Given the description of an element on the screen output the (x, y) to click on. 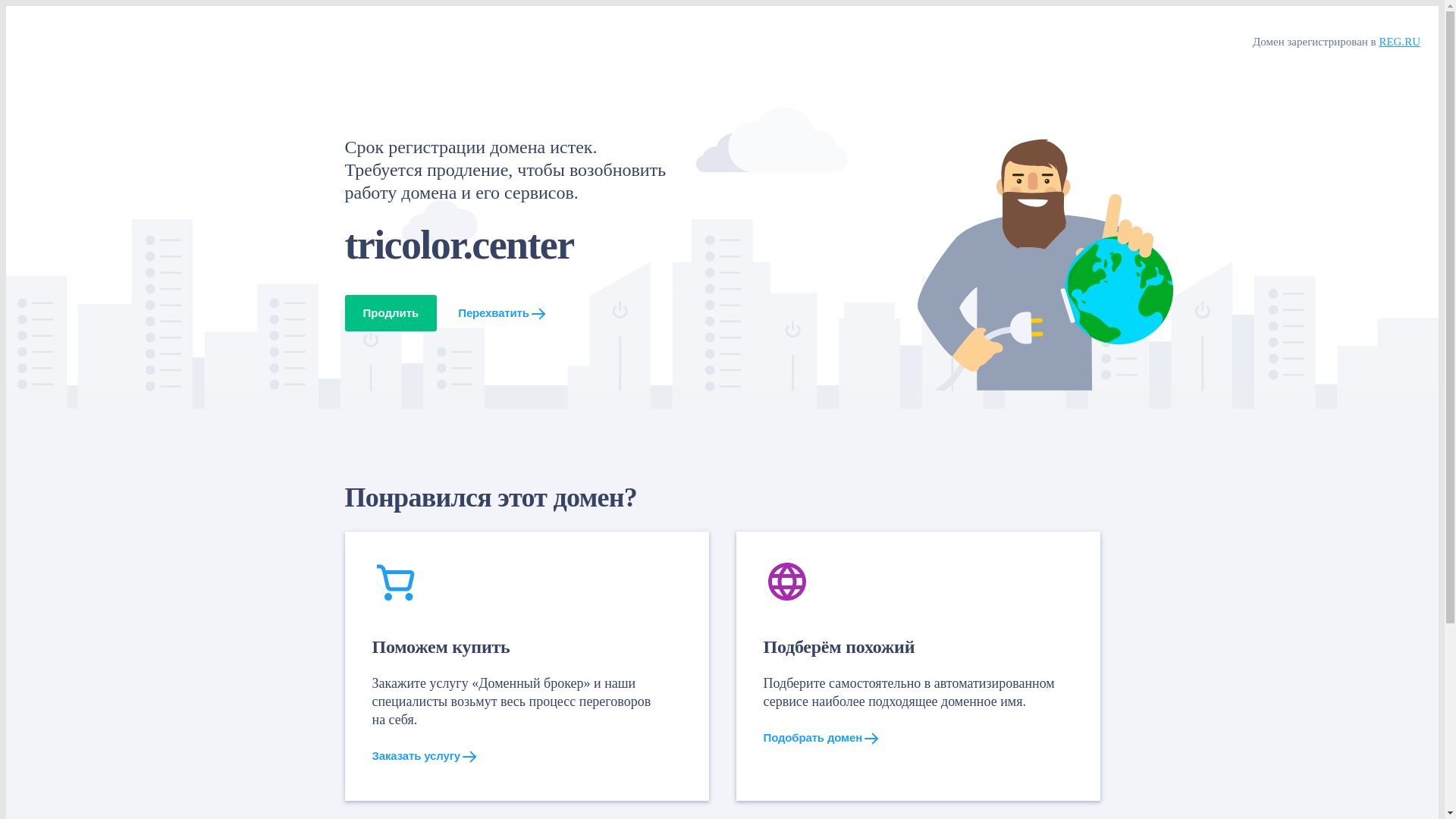
REG.RU Element type: text (1399, 41)
